Given the description of an element on the screen output the (x, y) to click on. 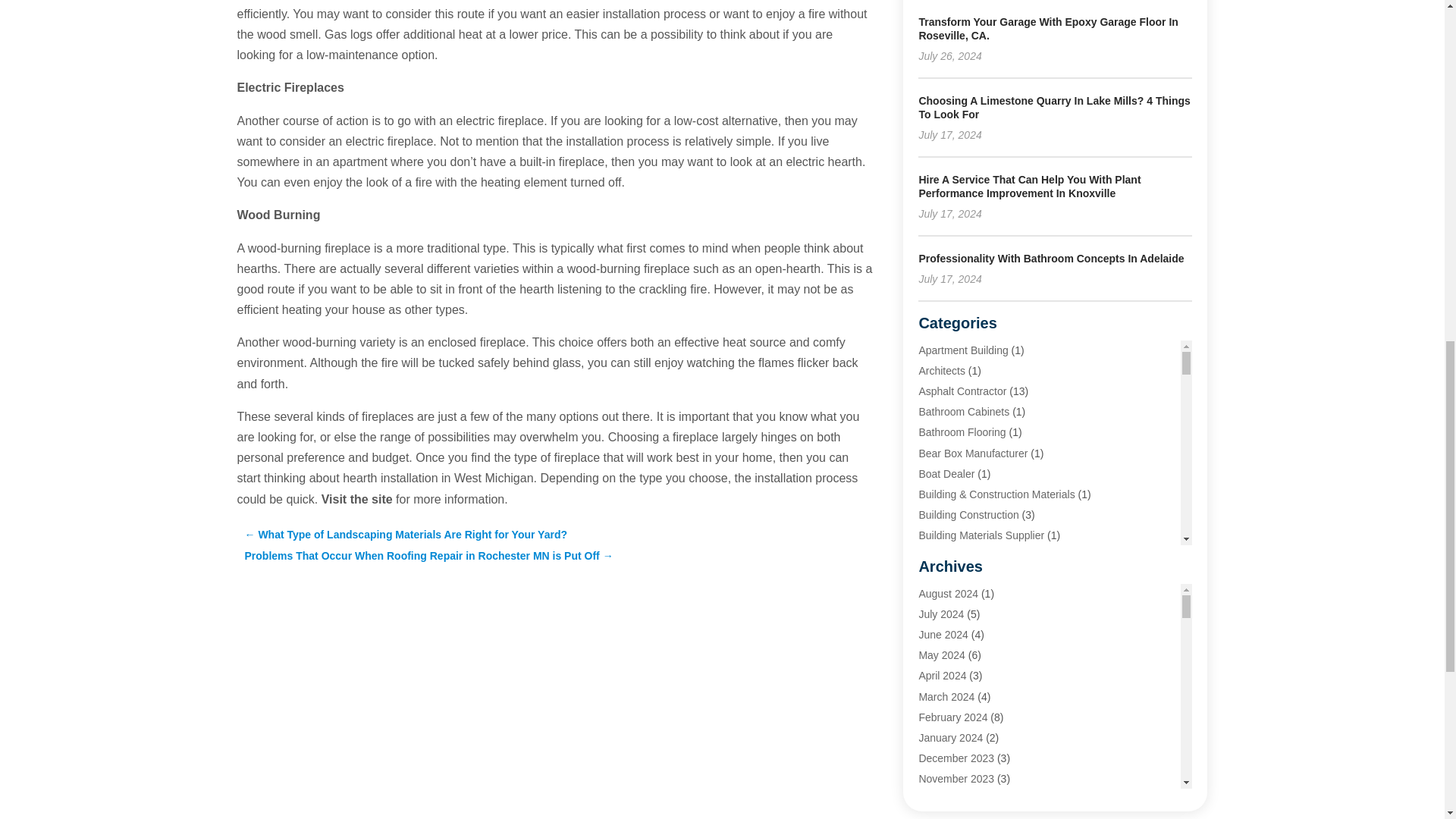
Building Materials Supplier (980, 535)
Apartment Building (962, 349)
Building Construction (967, 514)
Architects (940, 370)
Asphalt Contractor (962, 390)
Bathroom Flooring (962, 431)
Bear Box Manufacturer (972, 453)
Professionality With Bathroom Concepts In Adelaide (1050, 258)
Concrete Contractor (965, 638)
Bathroom Cabinets (963, 411)
Cleaning (938, 597)
Boat Dealer (946, 473)
